Given the description of an element on the screen output the (x, y) to click on. 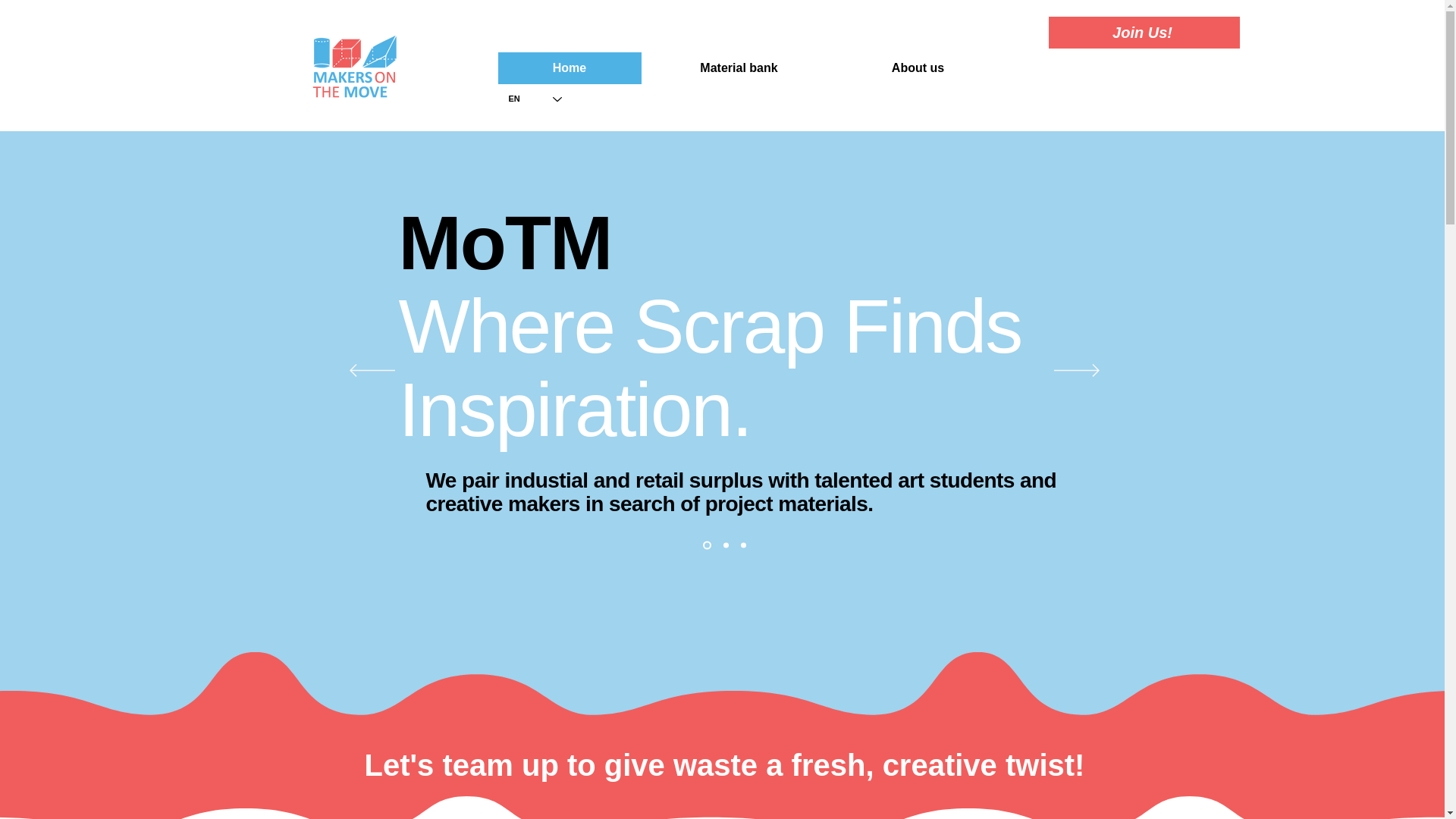
logo.JPG (357, 67)
Home (568, 68)
Material bank (738, 68)
About us (916, 68)
Join Us! (1143, 32)
